Given the description of an element on the screen output the (x, y) to click on. 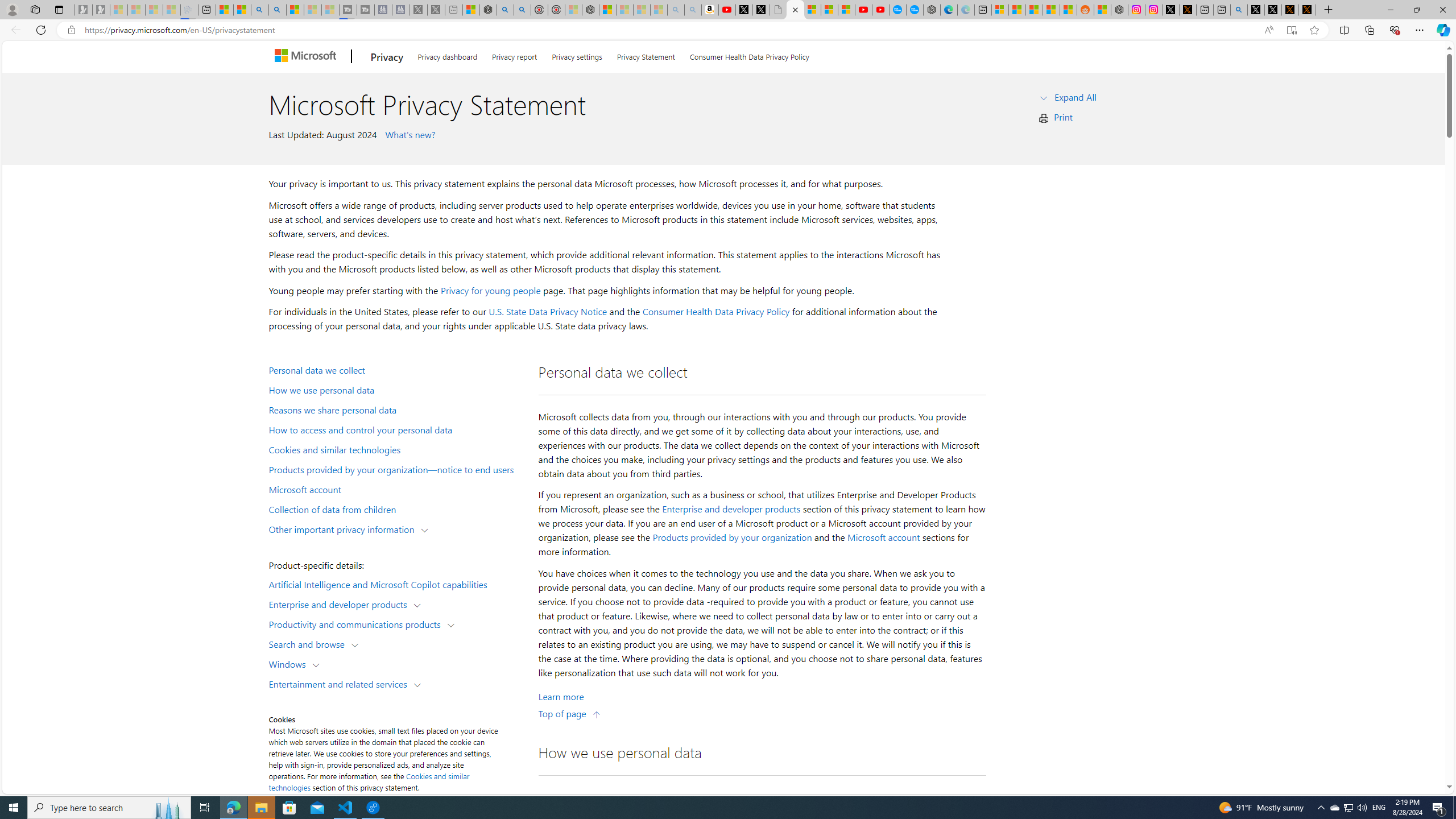
Privacy settings (577, 54)
Privacy settings (576, 54)
Amazon Echo Dot PNG - Search Images - Sleeping (692, 9)
U.S. State Data Privacy Notice (548, 311)
Enterprise and developer products (731, 508)
Privacy dashboard (447, 54)
